Given the description of an element on the screen output the (x, y) to click on. 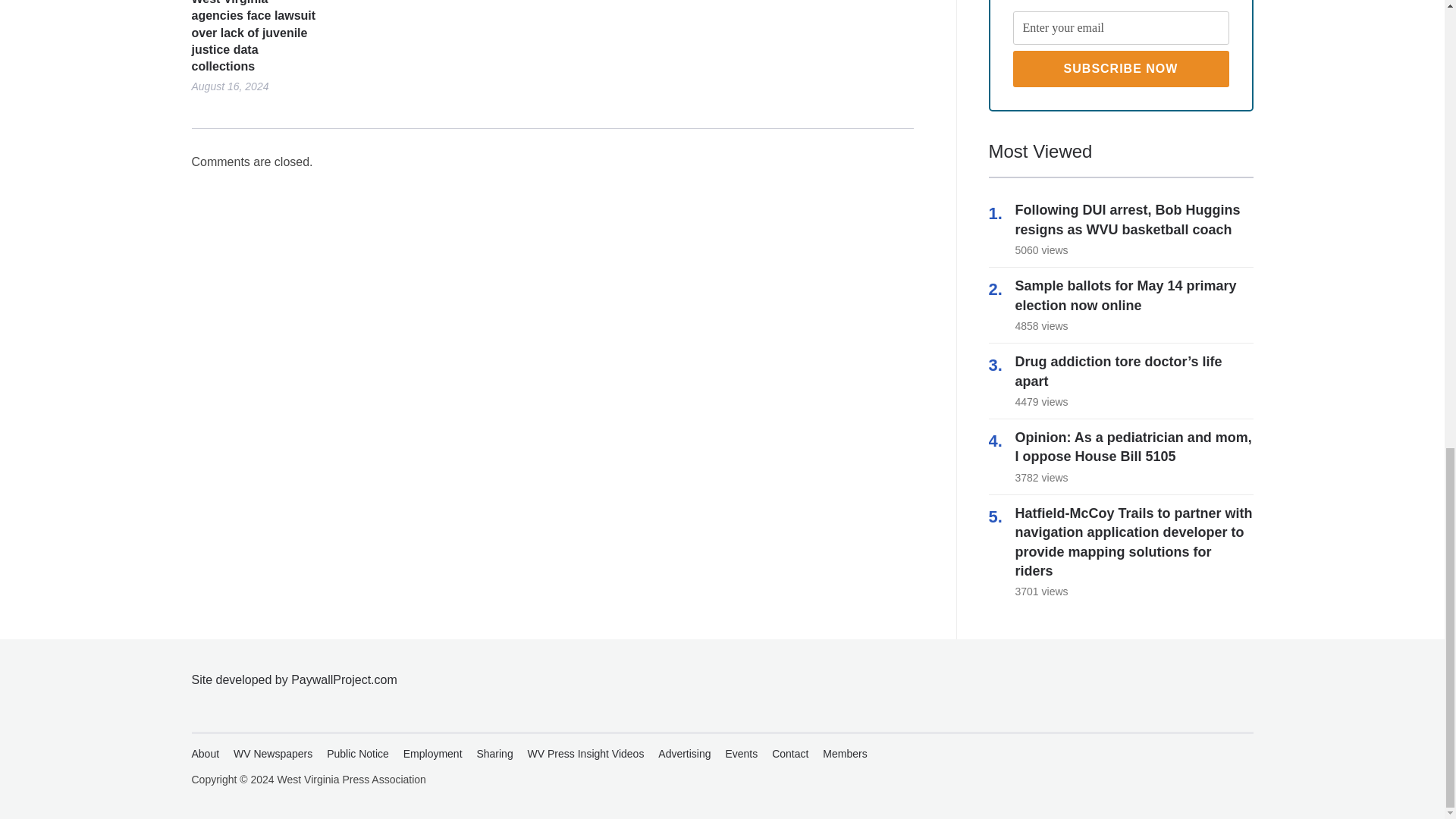
Subscribe Now (1120, 68)
